Given the description of an element on the screen output the (x, y) to click on. 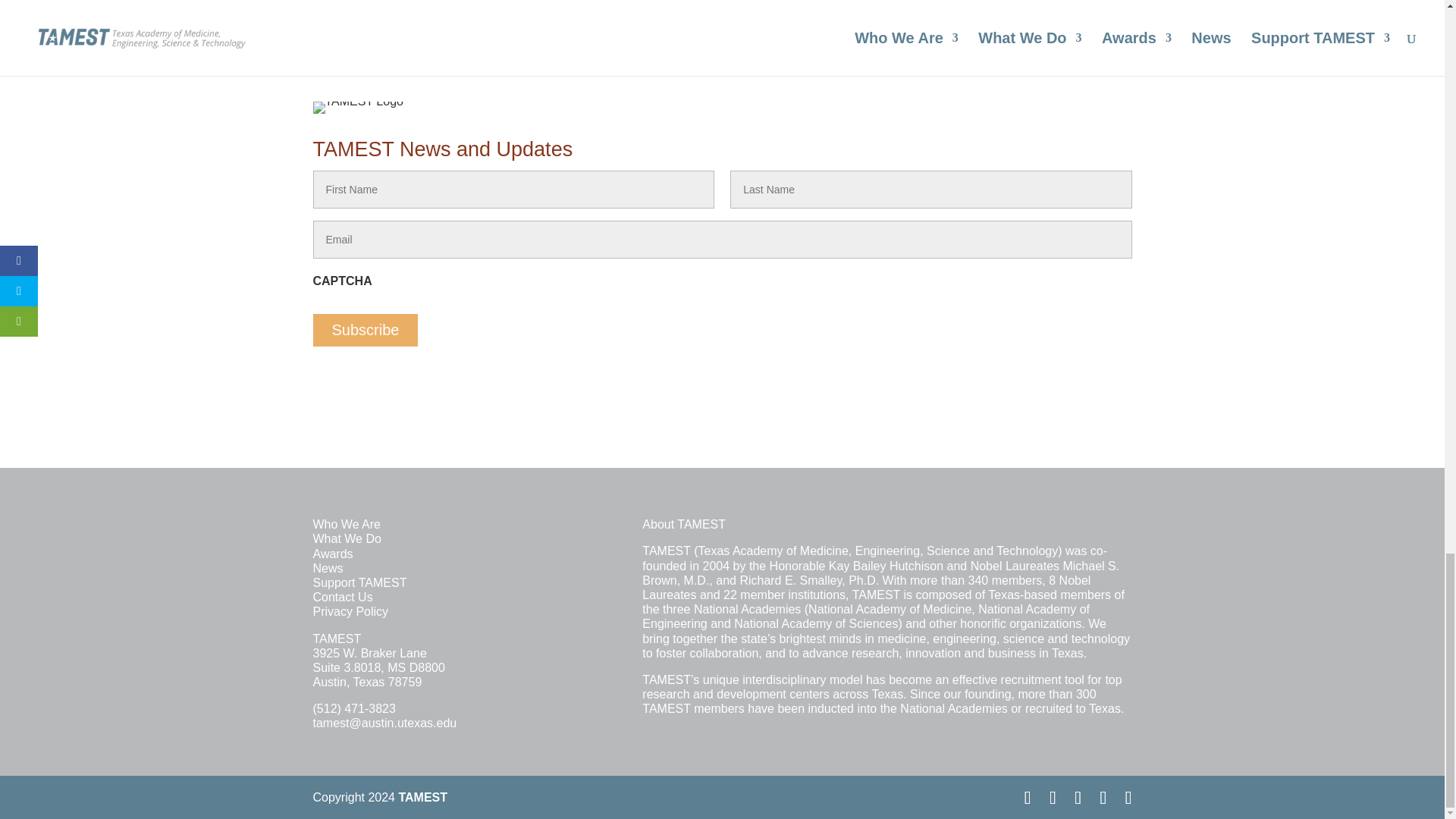
Subscribe (365, 329)
Contact Us (342, 596)
Support TAMEST (359, 582)
Who We Are (346, 523)
News (327, 567)
Subscribe (365, 329)
What We Do (346, 538)
Awards (332, 553)
TAMEST-Logo-1080x270 (358, 107)
